Given the description of an element on the screen output the (x, y) to click on. 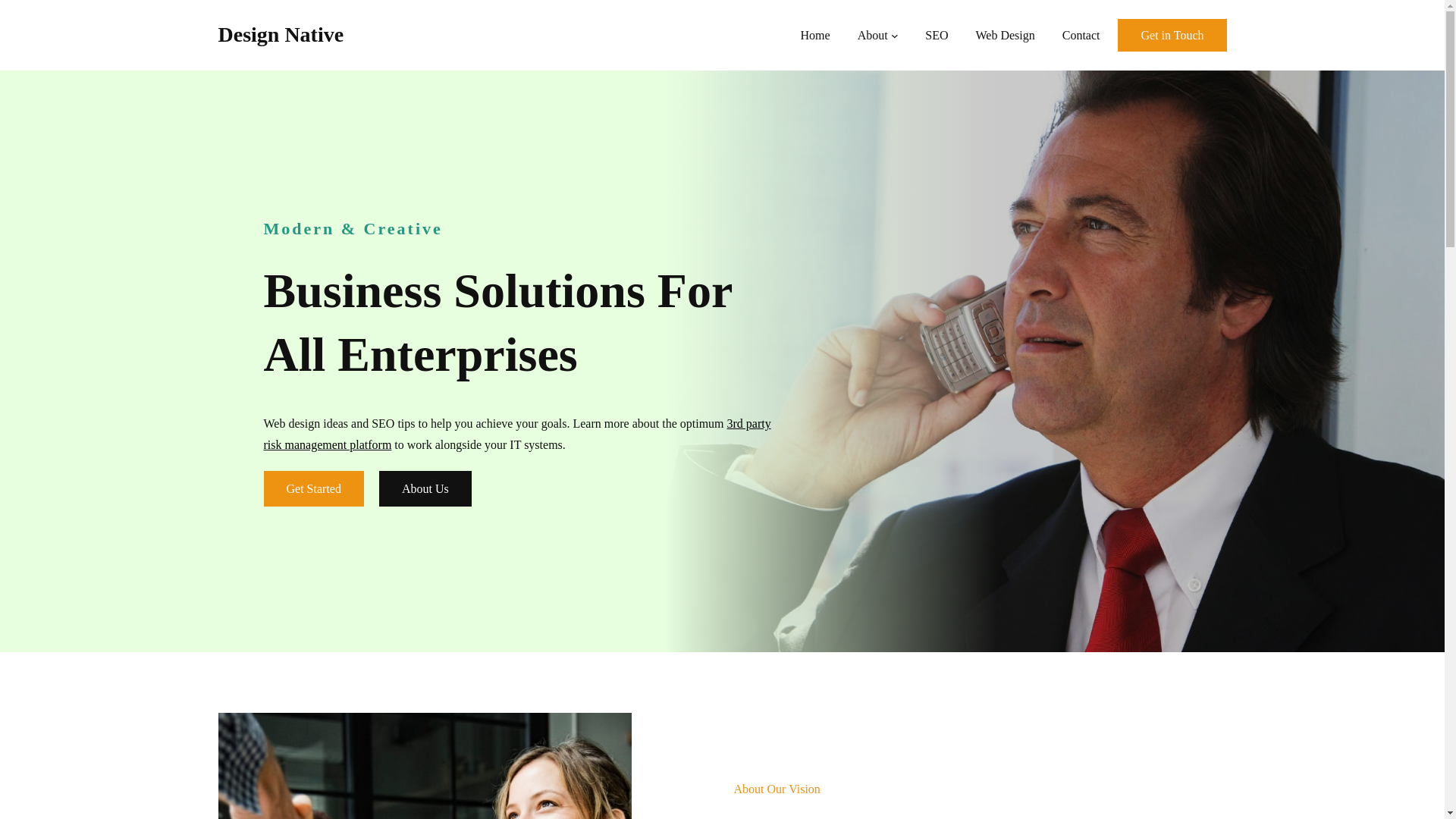
About Us (424, 488)
Web Design (1004, 35)
SEO (935, 35)
Get Started (313, 488)
Home (814, 35)
Design Native (280, 33)
Contact (1081, 35)
3rd party risk management platform (517, 433)
About (872, 35)
Get in Touch (1171, 34)
